Given the description of an element on the screen output the (x, y) to click on. 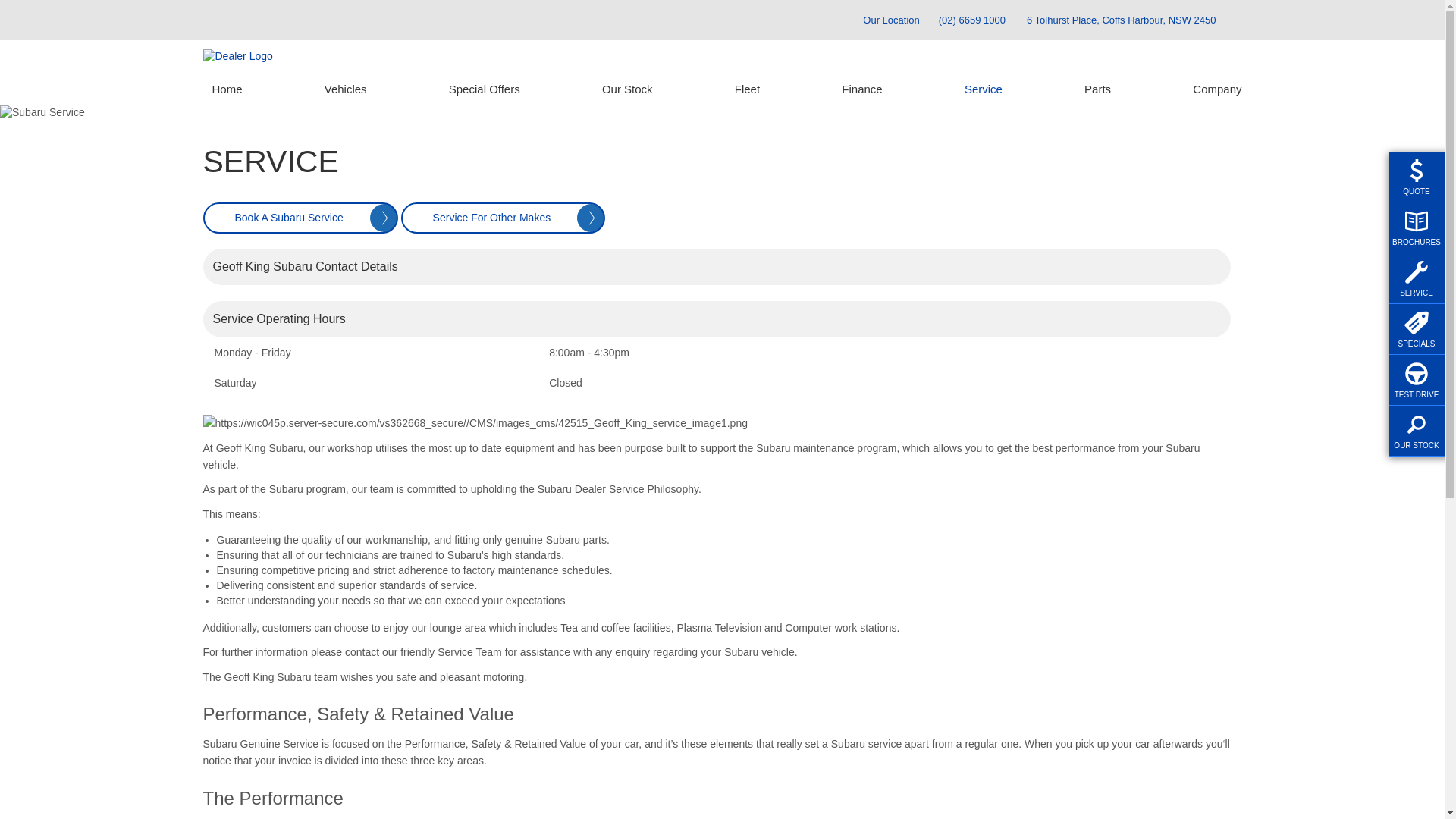
Service Element type: text (983, 88)
Home Element type: text (227, 88)
Service For Other Makes Element type: text (503, 217)
Our Stock Element type: text (627, 88)
Special Offers Element type: text (484, 88)
(02) 6659 1000 Element type: text (971, 19)
Vehicles Element type: text (345, 88)
Service Operating Hours Element type: text (716, 319)
Geoff King Subaru Contact Details Element type: text (716, 266)
Finance Element type: text (861, 88)
Book A Subaru Service Element type: text (300, 217)
Our Location Element type: text (884, 19)
Parts Element type: text (1097, 88)
Fleet Element type: text (746, 88)
Company Element type: text (1212, 88)
6 Tolhurst Place, Coffs Harbour, NSW 2450 Element type: text (1121, 19)
